Given the description of an element on the screen output the (x, y) to click on. 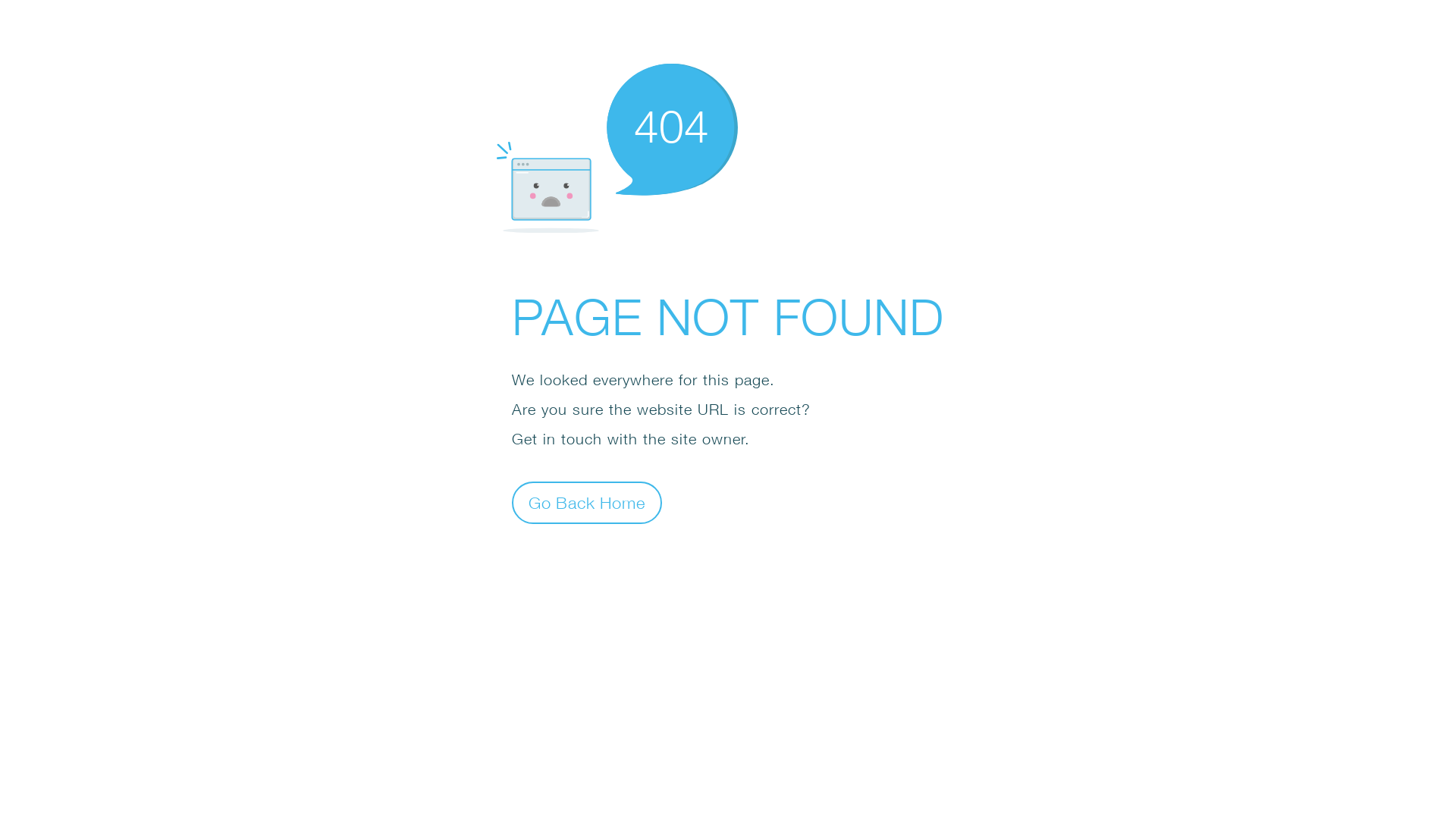
Go Back Home Element type: text (586, 502)
